Given the description of an element on the screen output the (x, y) to click on. 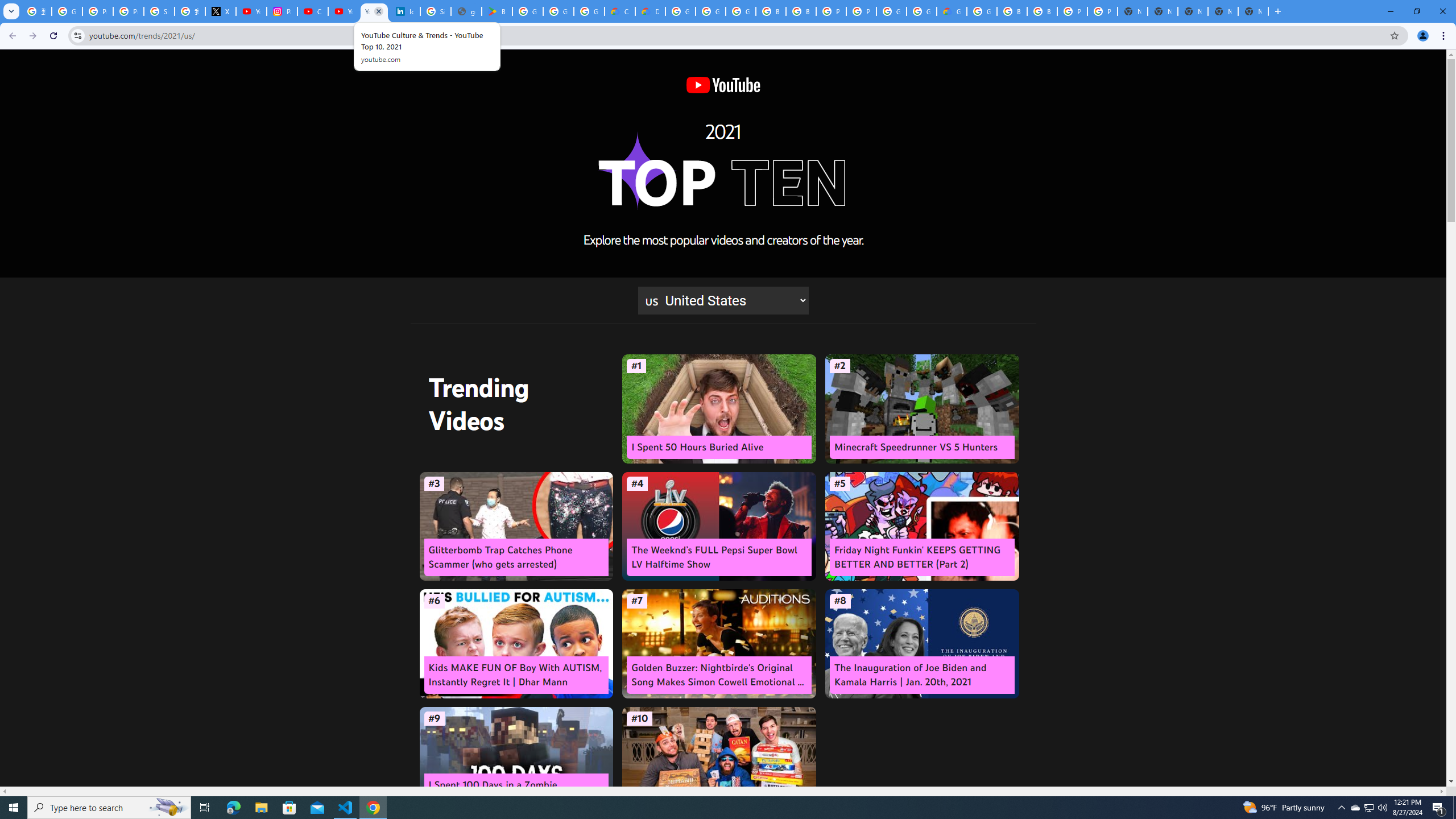
Google Cloud Platform (890, 11)
Identity verification via Persona | LinkedIn Help (404, 11)
Privacy Help Center - Policies Help (127, 11)
#1 I Spent 50 Hours Buried Alive (718, 408)
Sign in - Google Accounts (434, 11)
